Given the description of an element on the screen output the (x, y) to click on. 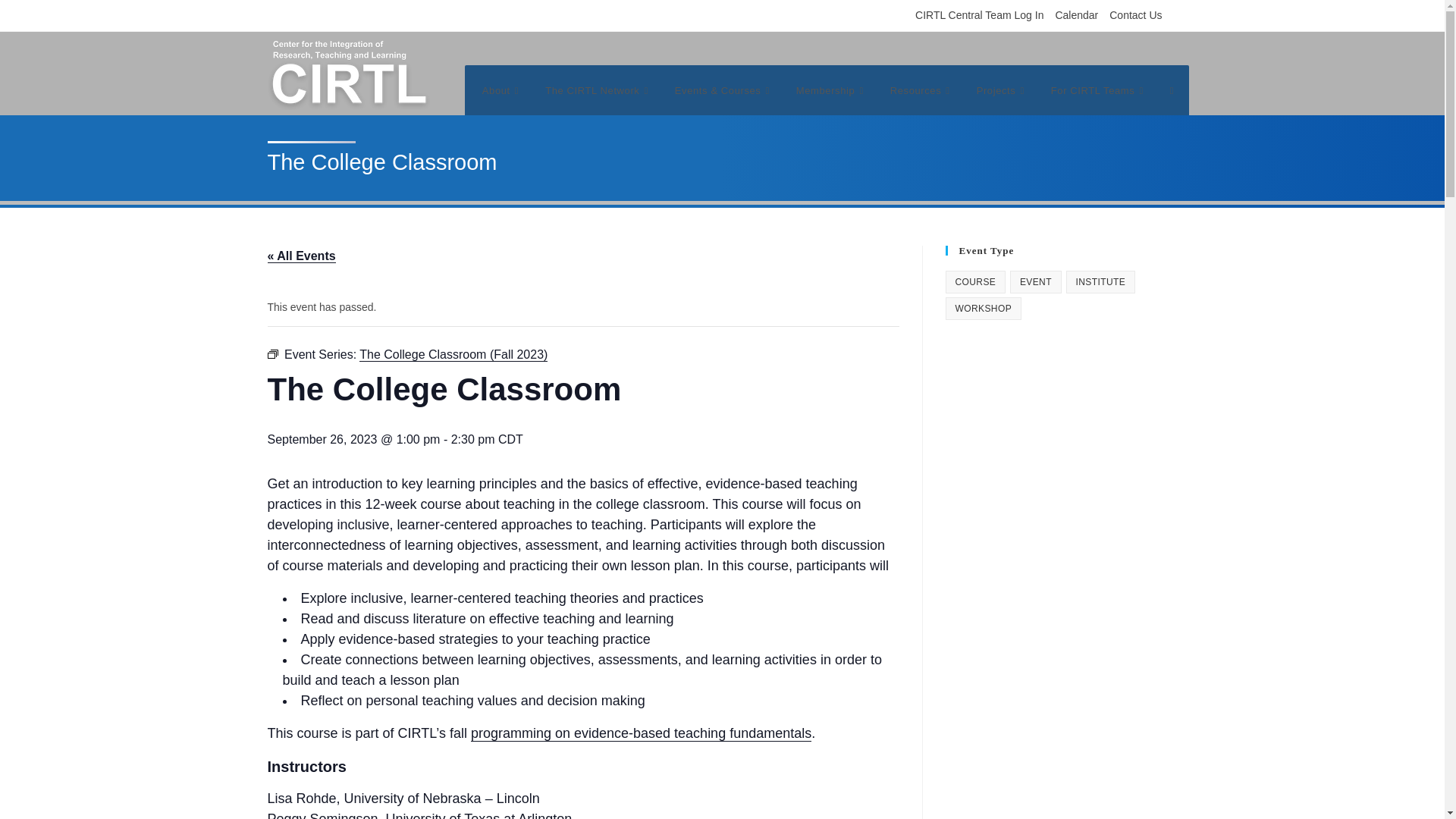
Contact Us (1135, 15)
CIRTL Central Team Log In (979, 15)
About (502, 92)
The CIRTL Network (598, 92)
Membership (831, 92)
Event Series (272, 353)
Calendar (1075, 15)
Projects (1002, 92)
Resources (922, 92)
